Given the description of an element on the screen output the (x, y) to click on. 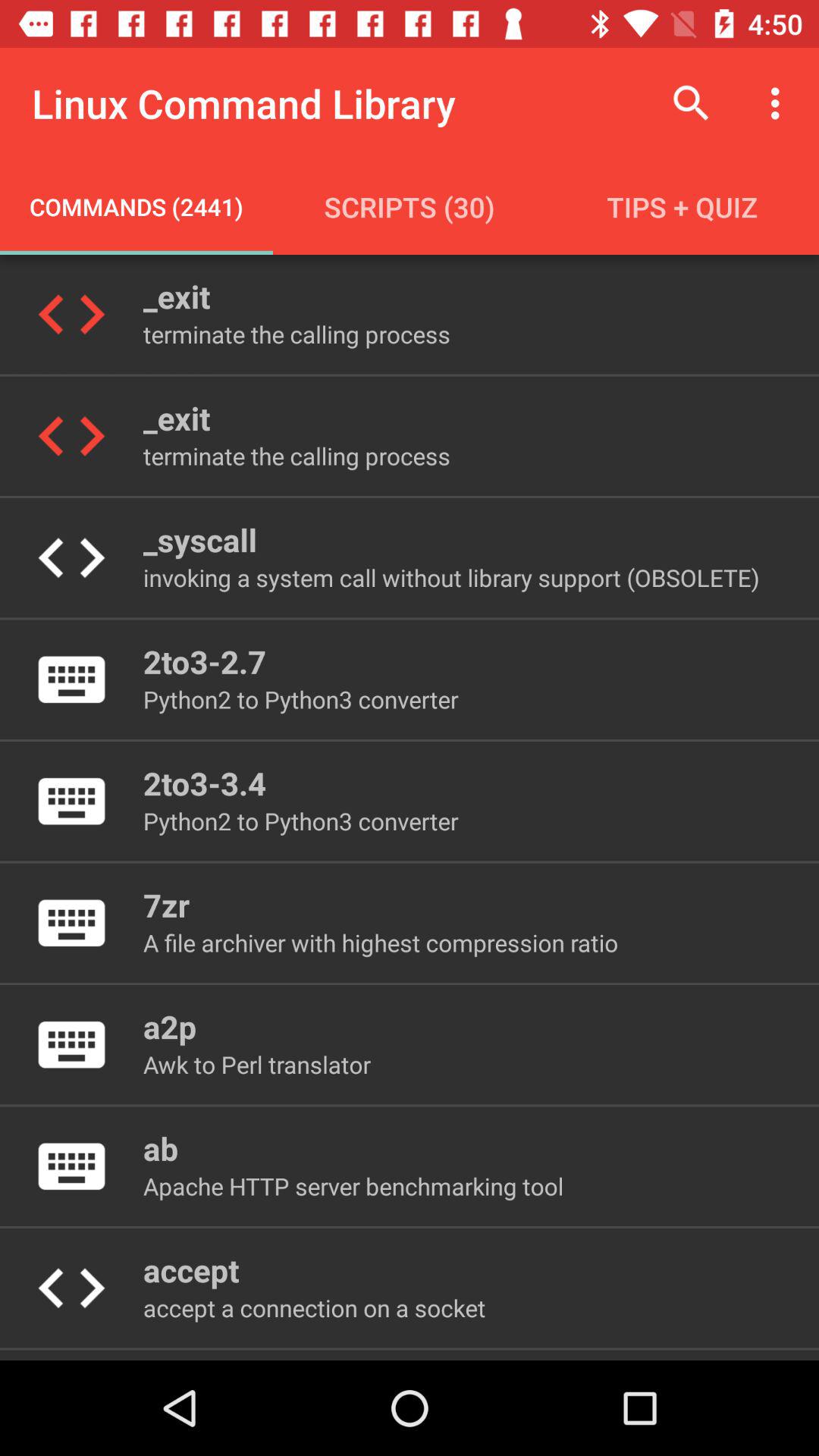
select the icon above the tips + quiz (779, 103)
